Given the description of an element on the screen output the (x, y) to click on. 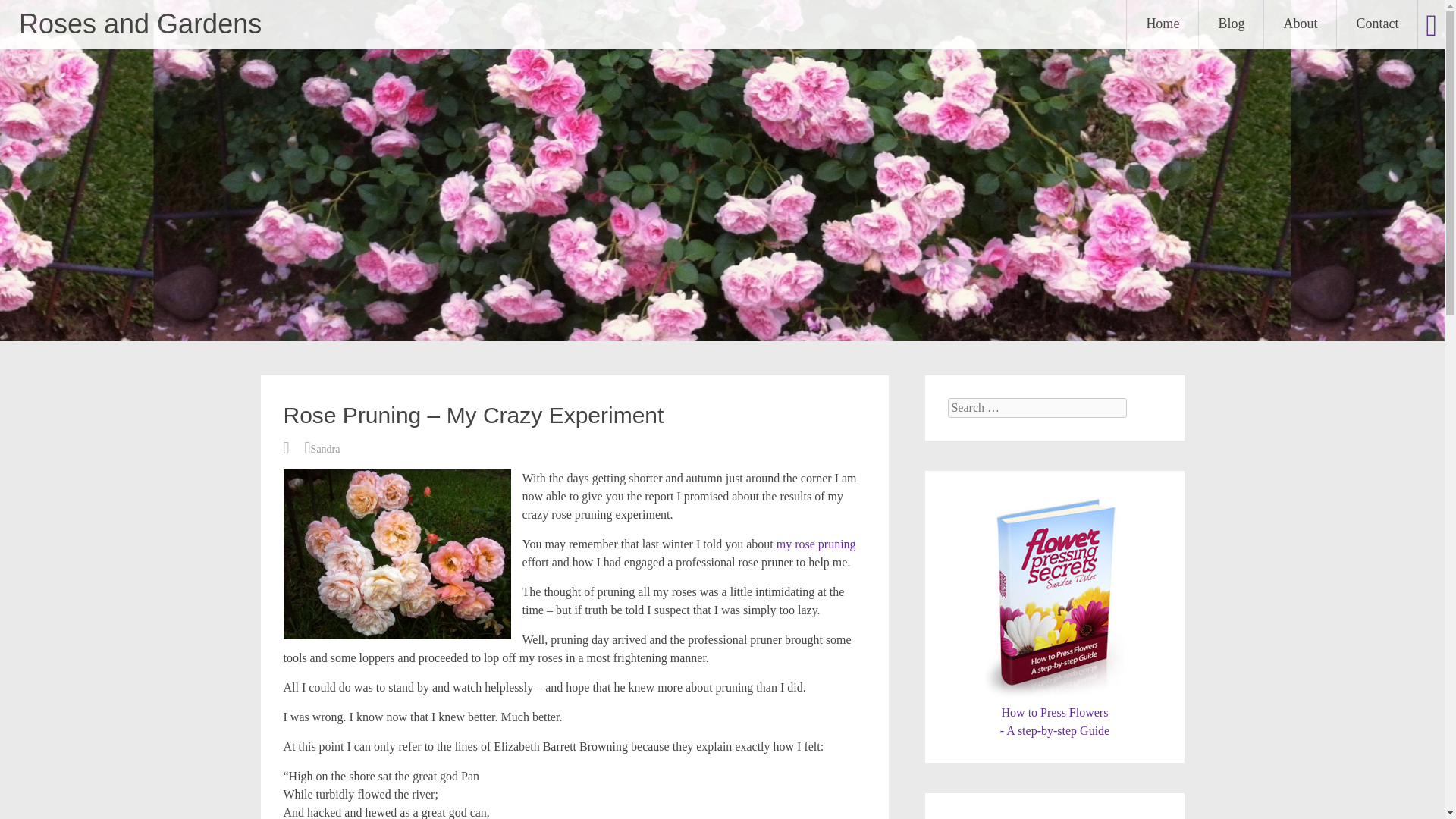
Roses and Gardens (140, 23)
my rose pruning (816, 543)
Rose pruning time (397, 554)
Contact (1376, 23)
Home (1162, 23)
About (1299, 23)
Roses and Gardens (140, 23)
Sandra (325, 449)
Rose pruning (816, 543)
Blog (1054, 712)
Search (1230, 23)
